Given the description of an element on the screen output the (x, y) to click on. 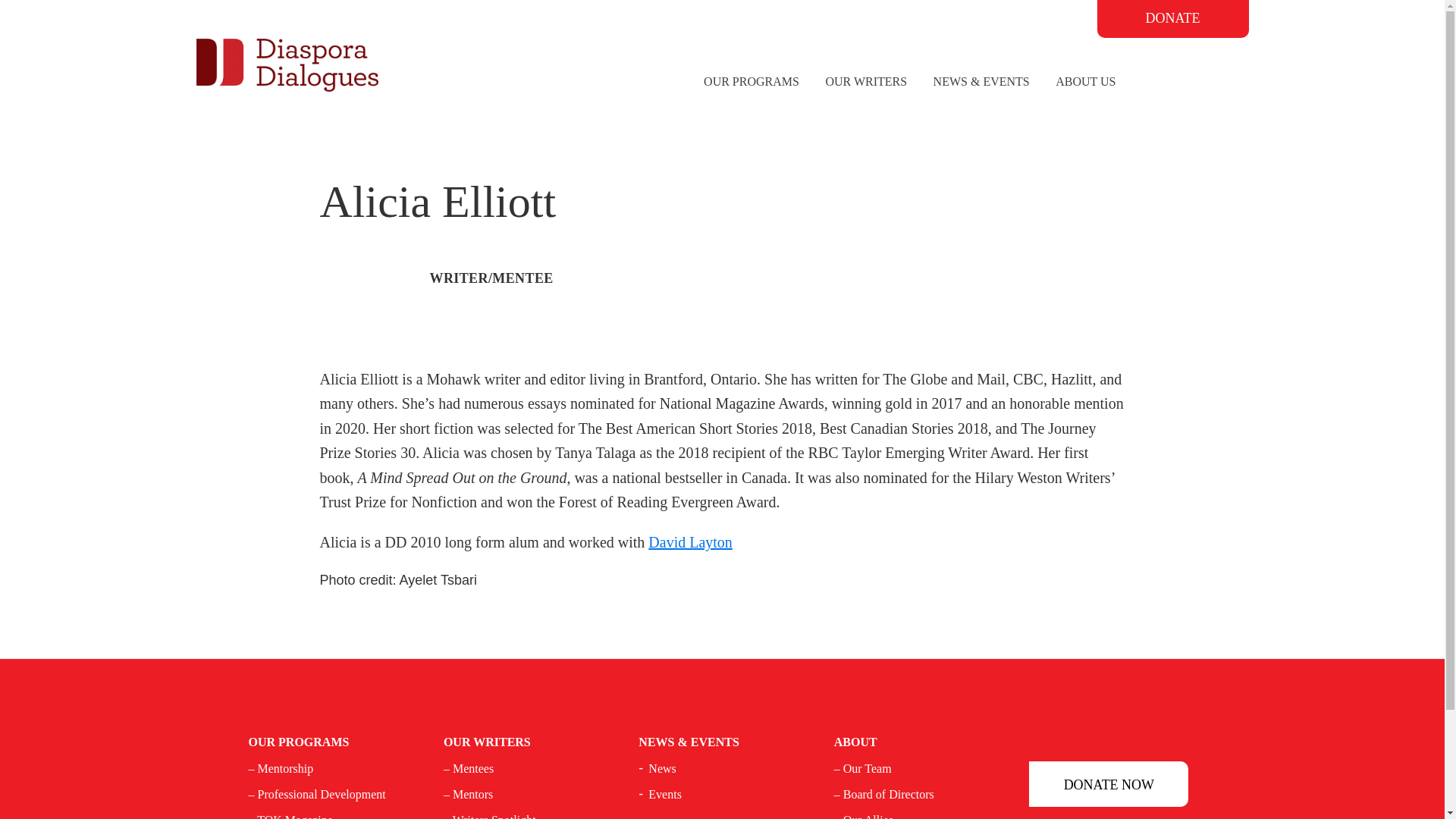
OUR PROGRAMS (751, 81)
DONATE (1171, 18)
David Layton (689, 541)
OUR WRITERS (865, 81)
ABOUT US (1084, 81)
